Given the description of an element on the screen output the (x, y) to click on. 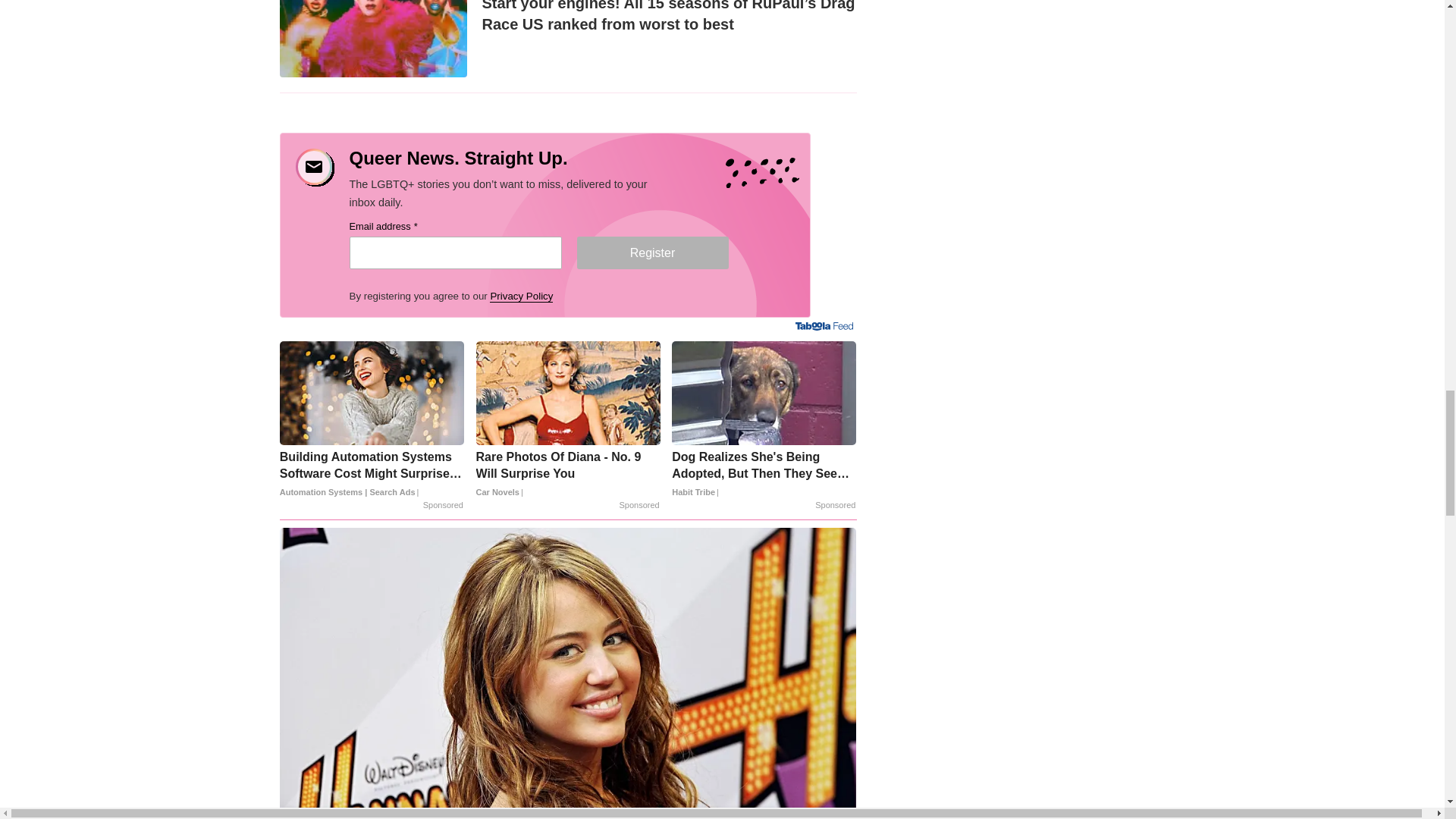
Rare Photos Of Diana - No. 9 Will Surprise You (568, 474)
Rare Photos Of Diana - No. 9 Will Surprise You (568, 393)
Building Automation Systems Software Cost Might Surprise you (371, 393)
Building Automation Systems Software Cost Might Surprise you (371, 474)
